Given the description of an element on the screen output the (x, y) to click on. 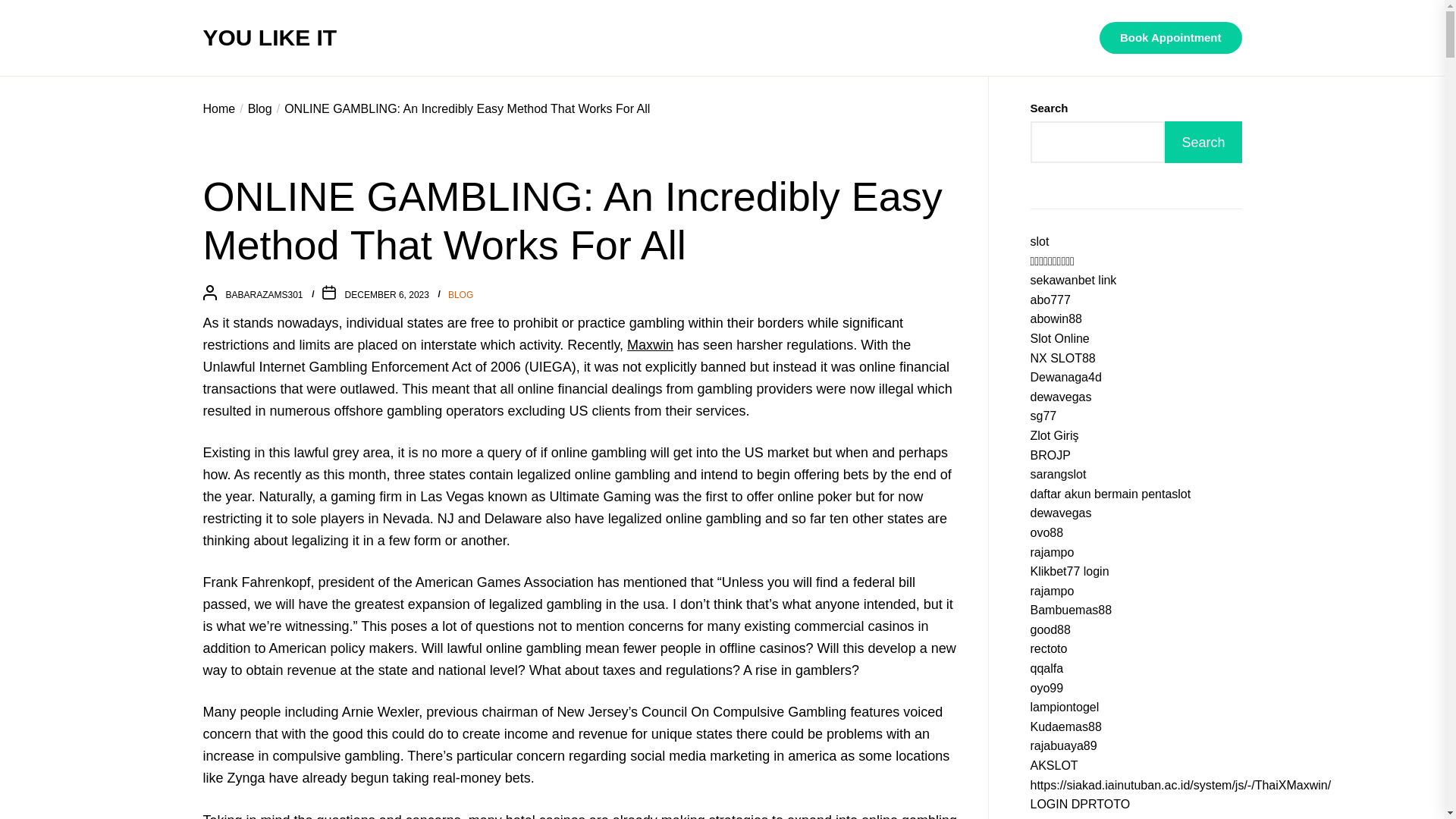
lampiontogel (1064, 707)
Slot Online (1059, 338)
Bambuemas88 (1070, 609)
BABARAZAMS301 (263, 294)
Maxwin (649, 344)
daftar akun bermain pentaslot (1110, 493)
abowin88 (1055, 318)
dewavegas (1059, 512)
BROJP (1049, 454)
slot (1038, 241)
dewavegas (1059, 396)
good88 (1049, 629)
sg77 (1043, 415)
Klikbet77 login (1068, 571)
Search (1202, 141)
